Given the description of an element on the screen output the (x, y) to click on. 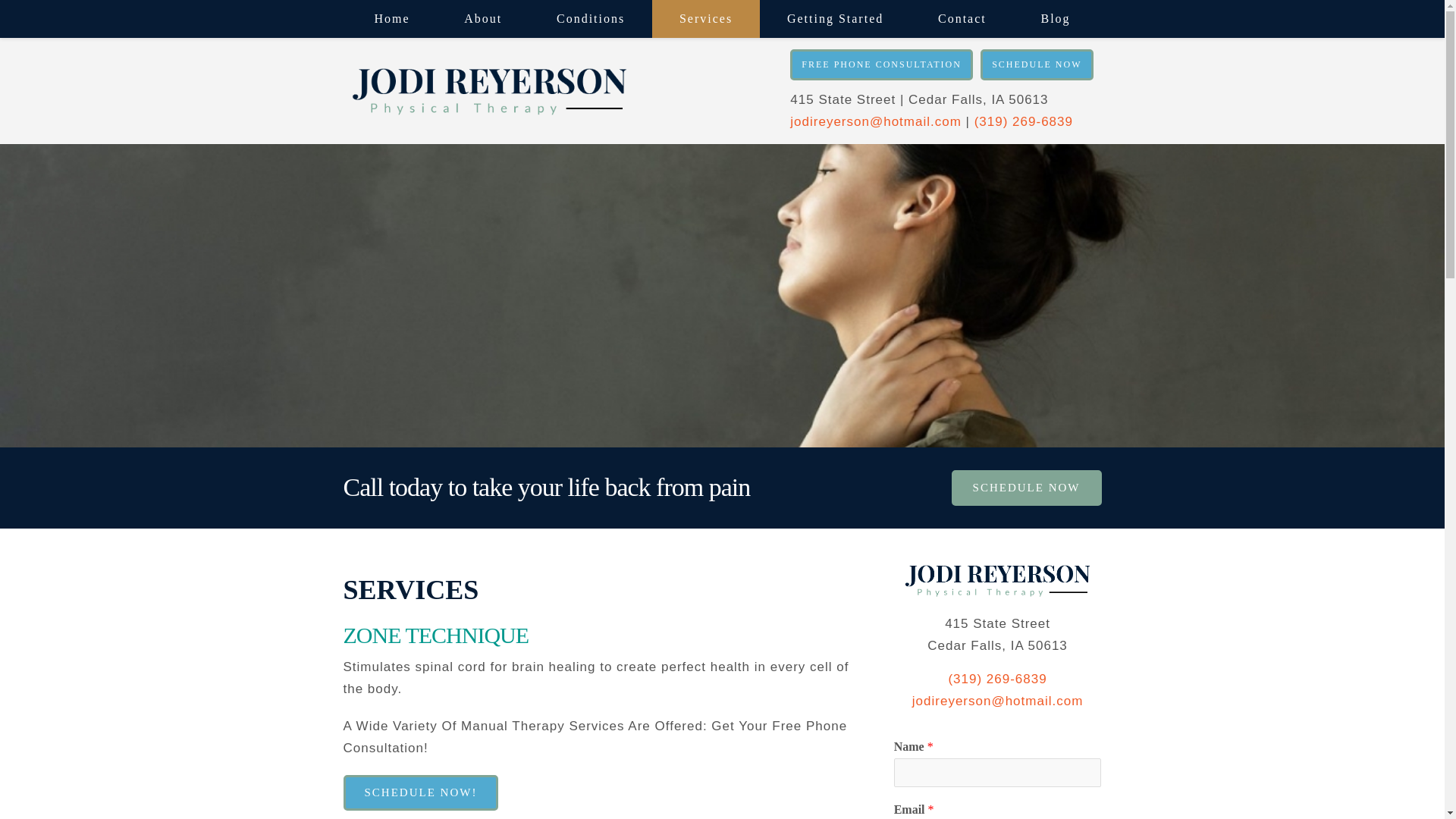
FREE PHONE CONSULTATION (881, 64)
Getting Started (835, 18)
Home (392, 18)
Conditions (590, 18)
SCHEDULE NOW! (419, 792)
Blog (1055, 18)
SCHEDULE NOW (1027, 488)
About (482, 18)
Services (706, 18)
Contact (962, 18)
SCHEDULE NOW (1036, 64)
